Given the description of an element on the screen output the (x, y) to click on. 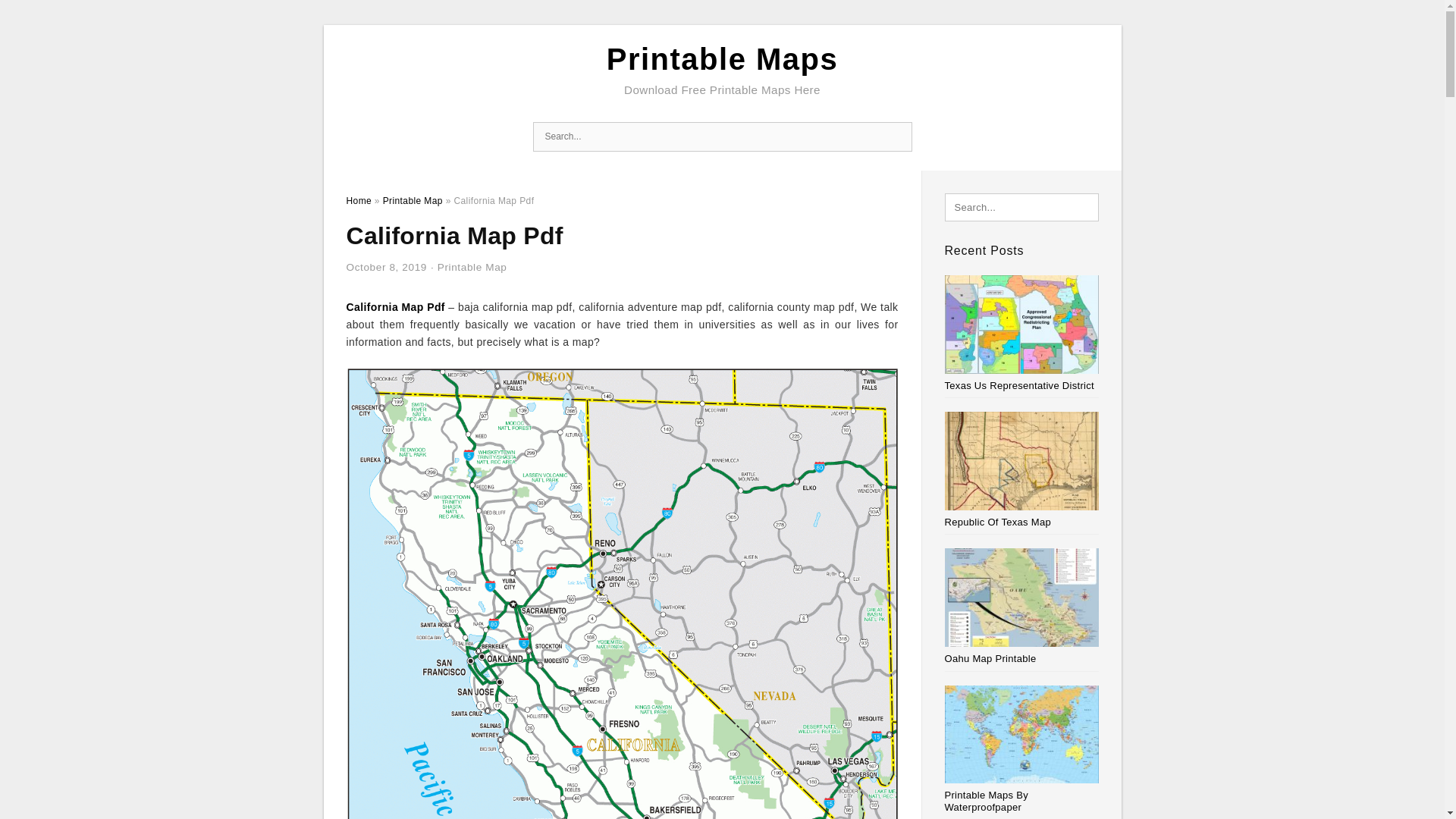
Printable Map (472, 266)
Printable Map (412, 200)
California Map Pdf (395, 306)
Search (895, 137)
Printable Maps (722, 59)
Search (895, 137)
Search for: (721, 136)
Search (43, 15)
Home (358, 200)
Search (895, 137)
